Given the description of an element on the screen output the (x, y) to click on. 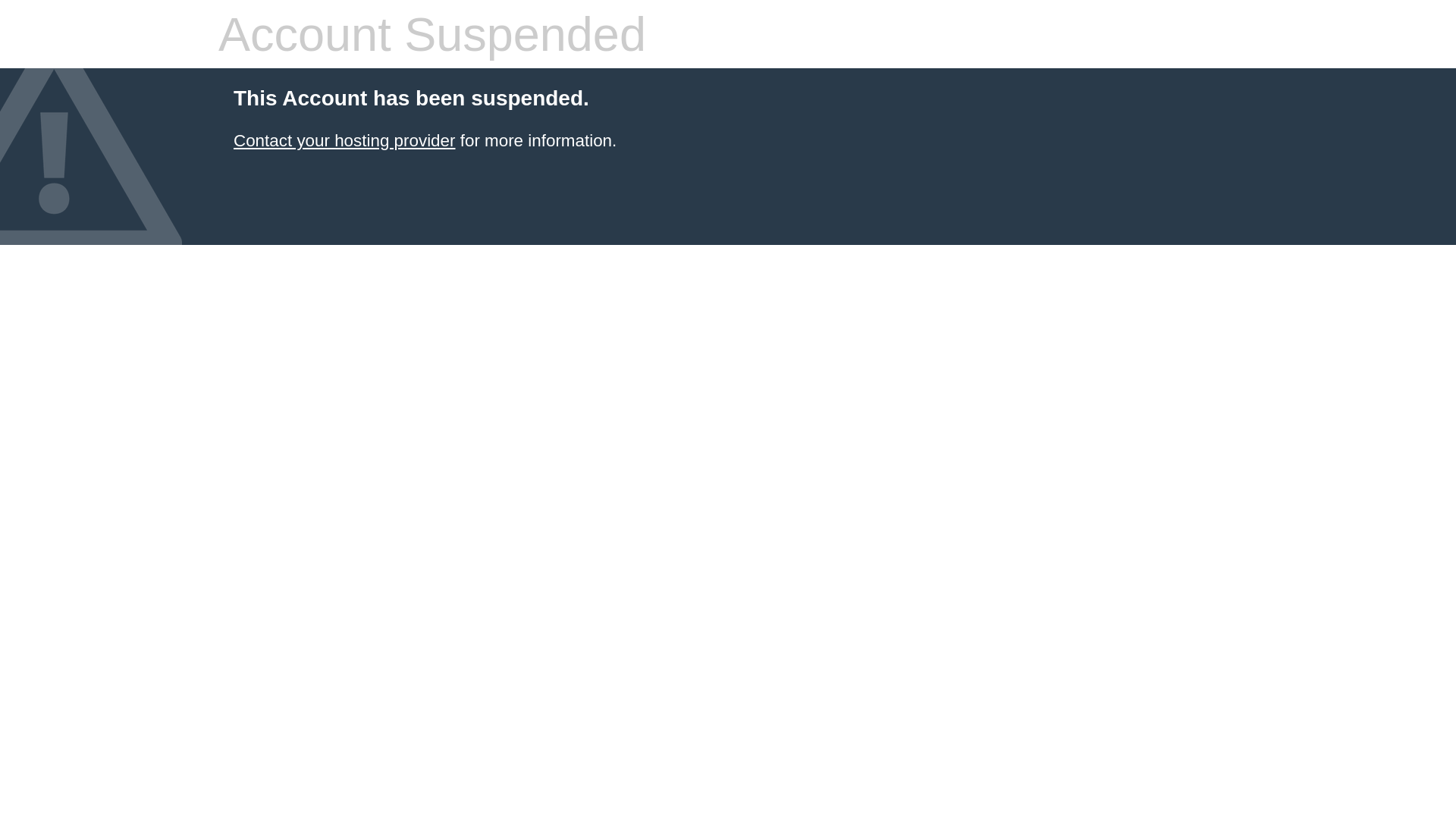
Contact your hosting provider Element type: text (344, 140)
